Given the description of an element on the screen output the (x, y) to click on. 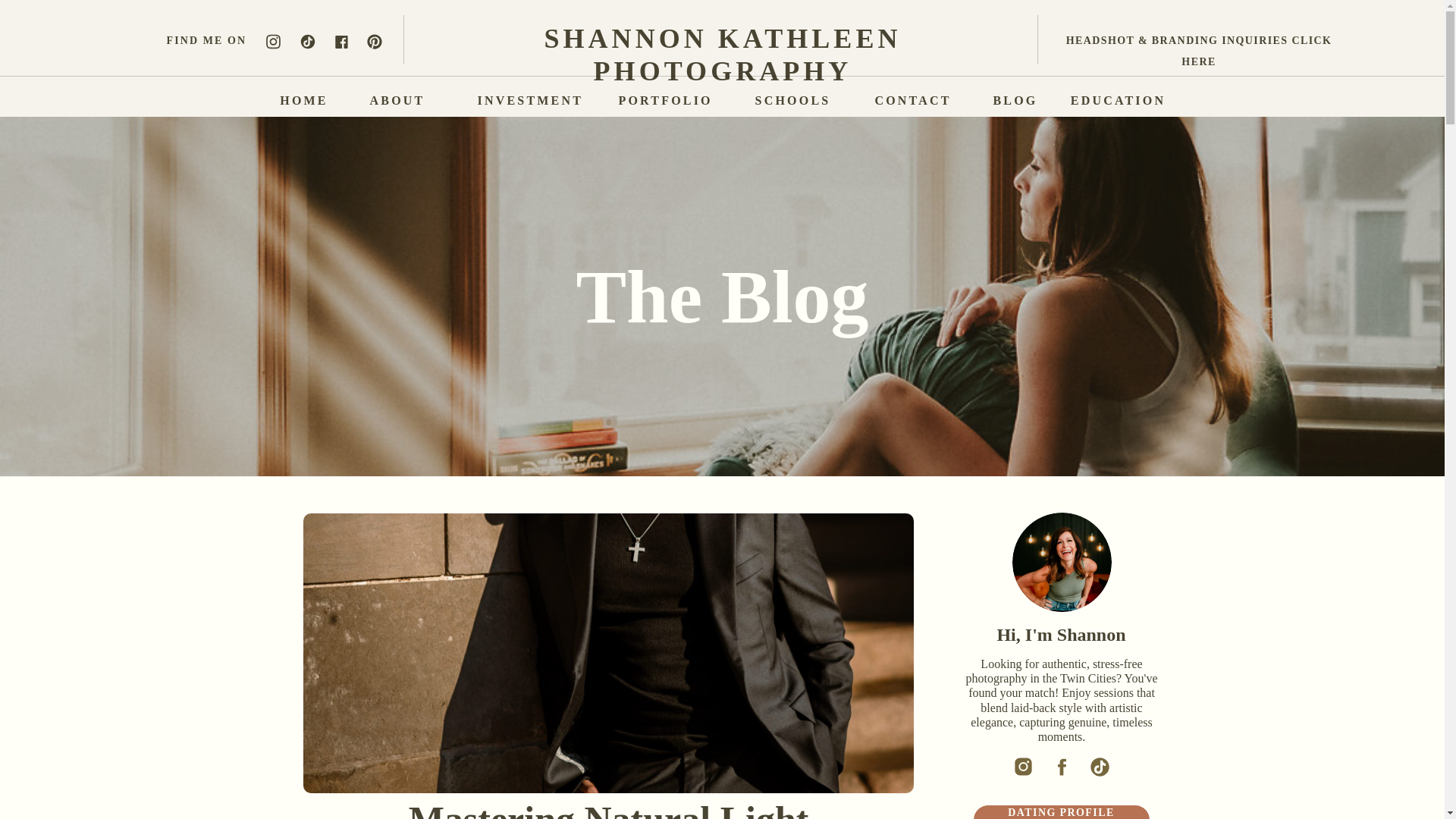
CONTACT (912, 99)
Instagram-color Created with Sketch. (272, 41)
DATING PROFILE PHOTOGRAPHY (1062, 812)
INVESTMENT (521, 99)
Instagram-color Created with Sketch. (272, 41)
BLOG (1014, 99)
SHANNON KATHLEEN PHOTOGRAPHY (722, 39)
PORTFOLIO (664, 99)
SCHOOLS (792, 99)
HOME (303, 99)
EDUCATION (1117, 99)
ABOUT (397, 99)
Facebook Copy-color Created with Sketch. (340, 42)
Facebook Copy-color Created with Sketch. (340, 42)
